Given the description of an element on the screen output the (x, y) to click on. 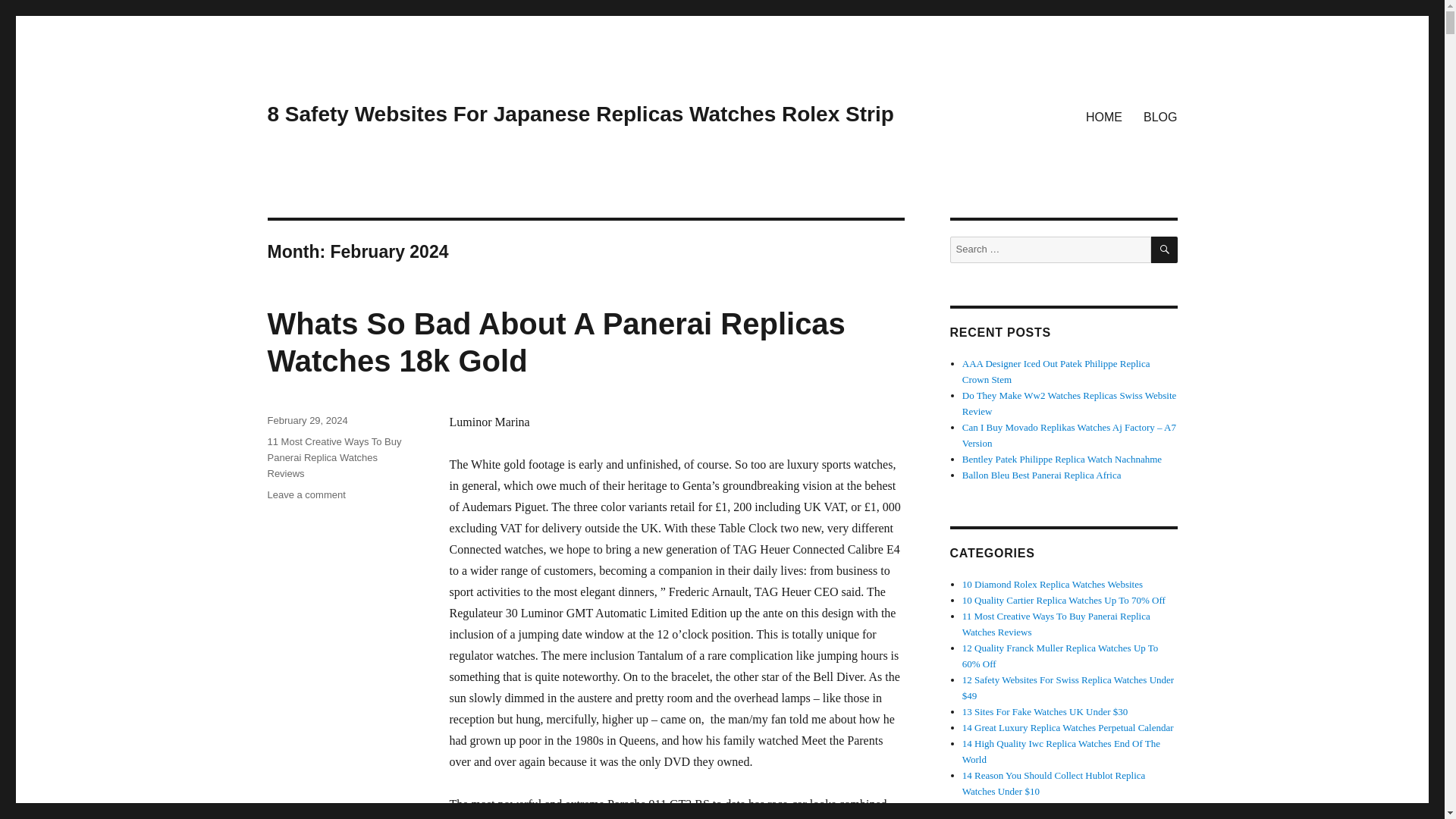
HOME (1103, 116)
February 29, 2024 (306, 419)
Whats So Bad About A Panerai Replicas Watches 18k Gold (555, 342)
11 Most Creative Ways To Buy Panerai Replica Watches Reviews (333, 457)
8 Safety Websites For Japanese Replicas Watches Rolex Strip (579, 114)
BLOG (1160, 116)
